Given the description of an element on the screen output the (x, y) to click on. 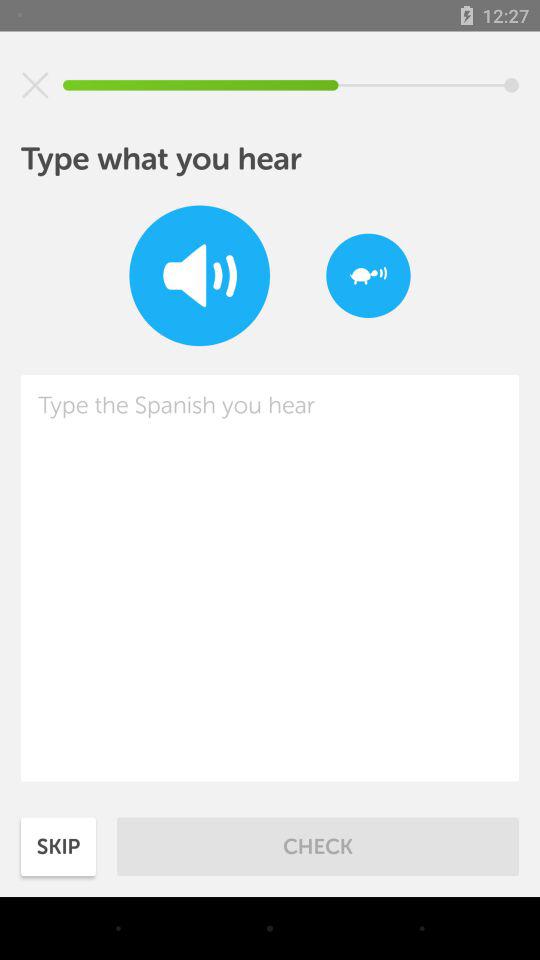
enter words to transcribe (270, 578)
